Given the description of an element on the screen output the (x, y) to click on. 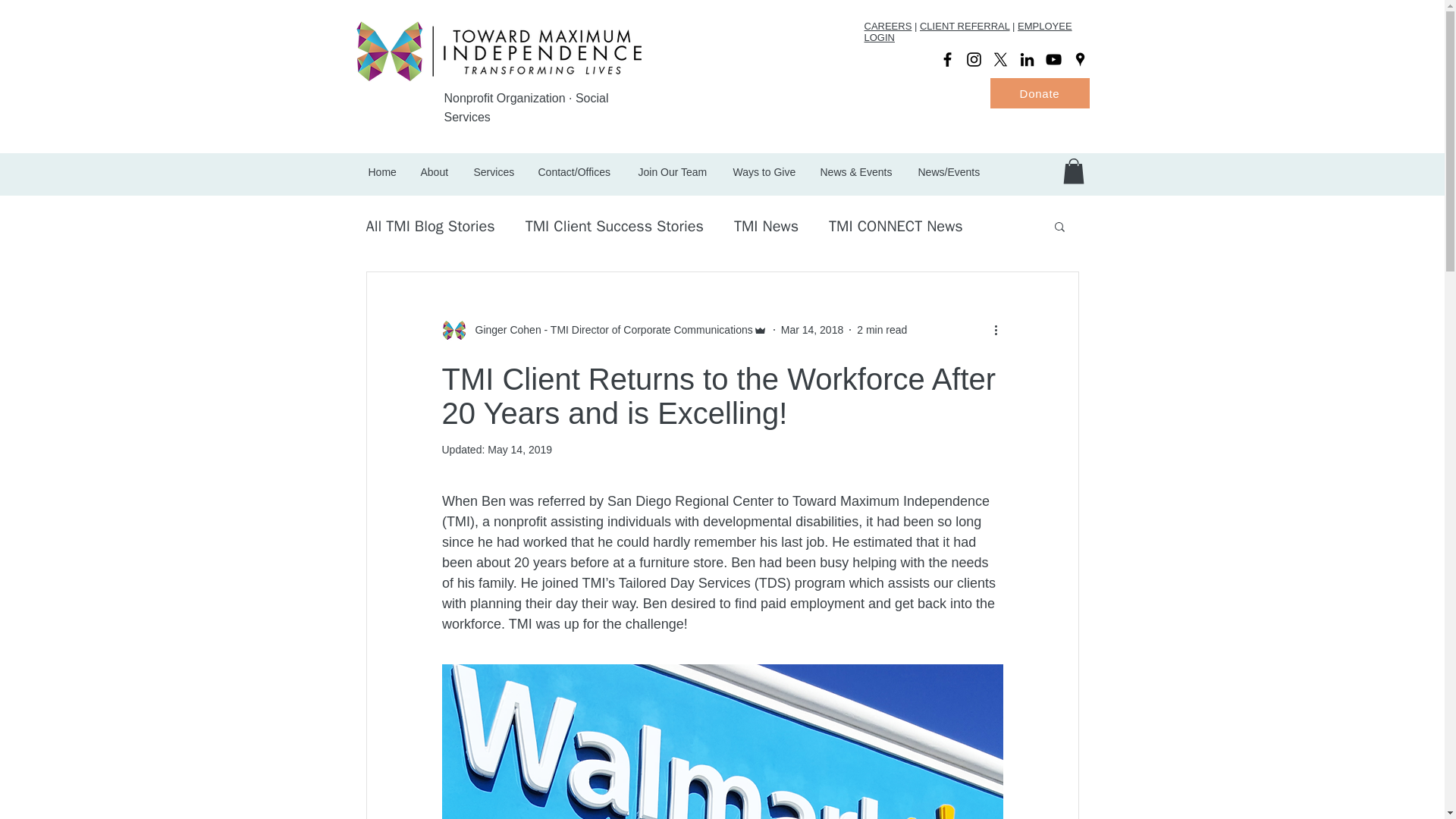
EMPLOYEE LOGIN (967, 31)
About (436, 171)
May 14, 2019 (519, 449)
2 min read (882, 329)
Mar 14, 2018 (812, 329)
Join Our Team (673, 171)
CAREERS  (889, 25)
Donate (1039, 92)
CLIENT REFERRAL (964, 25)
Ginger Cohen - TMI Director of Corporate Communications (608, 330)
